Given the description of an element on the screen output the (x, y) to click on. 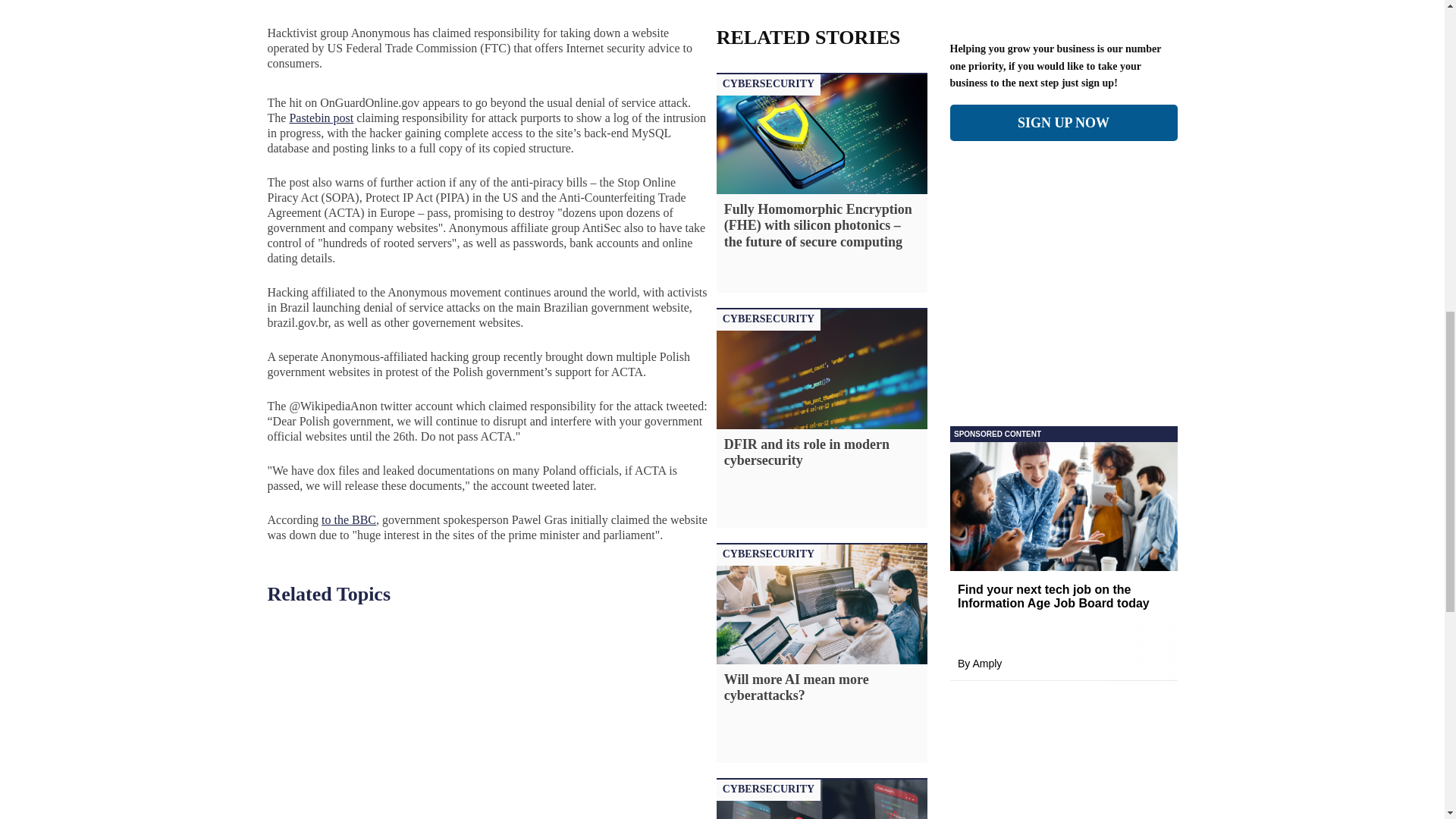
3rd party ad content (1062, 5)
3rd party ad content (195, 5)
3rd party ad content (1249, 5)
3rd party ad content (1062, 323)
